Given the description of an element on the screen output the (x, y) to click on. 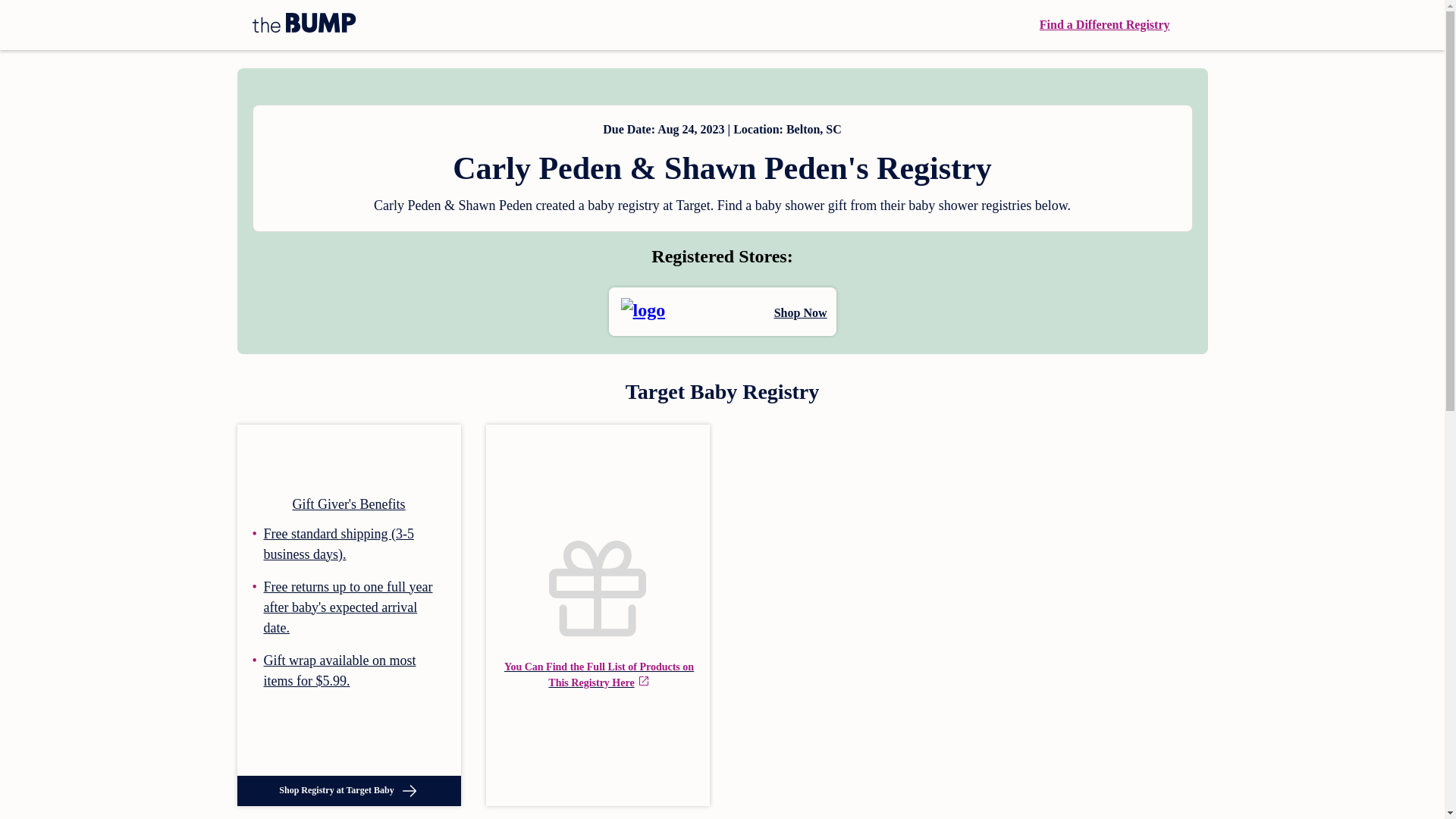
Shop Registry at Target Baby (347, 790)
Find a Different Registry (1104, 24)
Shop Now (721, 311)
You Can Find the Full List of Products on This Registry Here (597, 615)
